Given the description of an element on the screen output the (x, y) to click on. 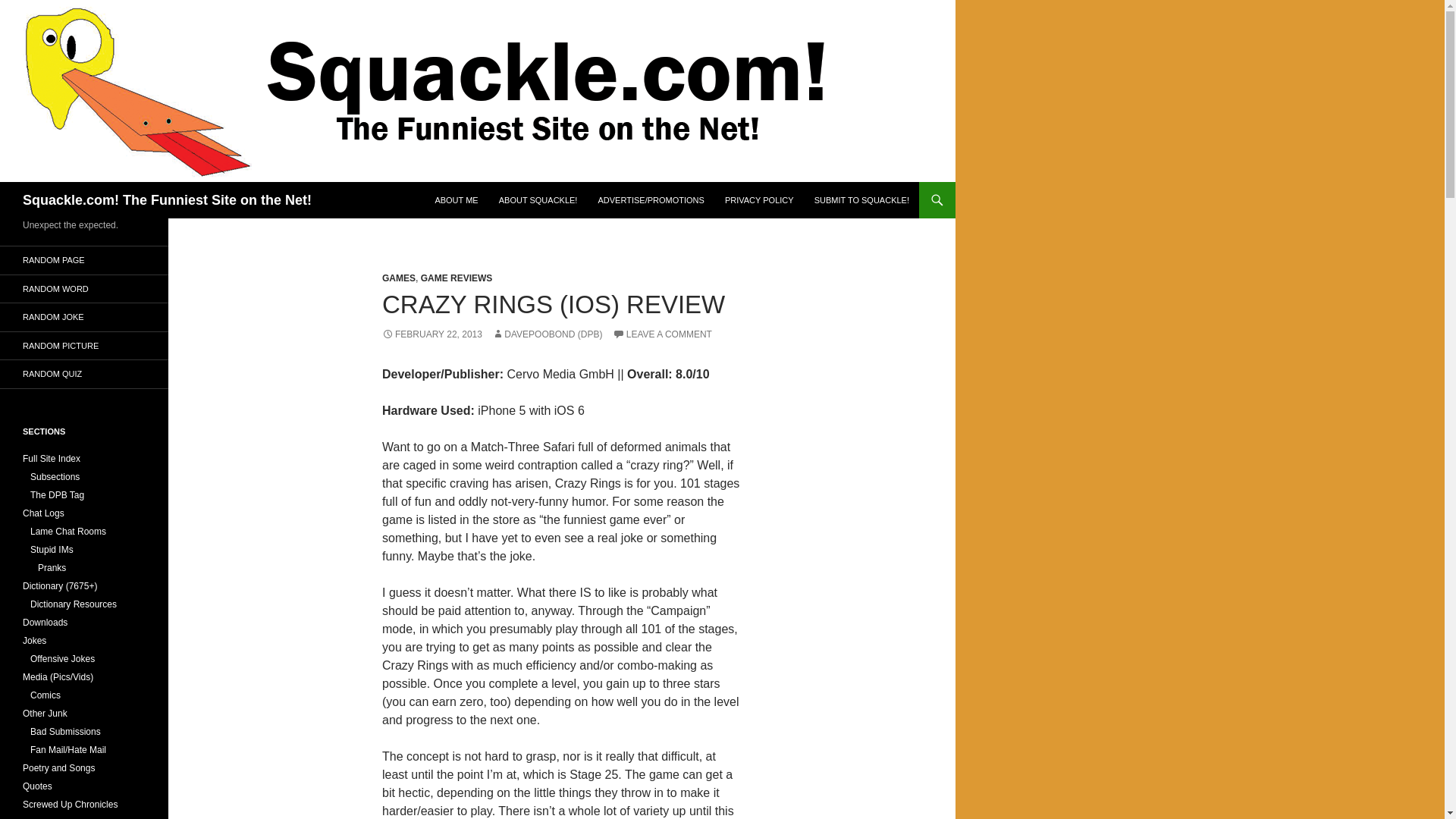
GAME REVIEWS (456, 277)
GAMES (397, 277)
FEBRUARY 22, 2013 (431, 334)
Squackle.com! The Funniest Site on the Net! (167, 199)
ABOUT ME (455, 199)
SUBMIT TO SQUACKLE! (861, 199)
LEAVE A COMMENT (661, 334)
PRIVACY POLICY (759, 199)
